Given the description of an element on the screen output the (x, y) to click on. 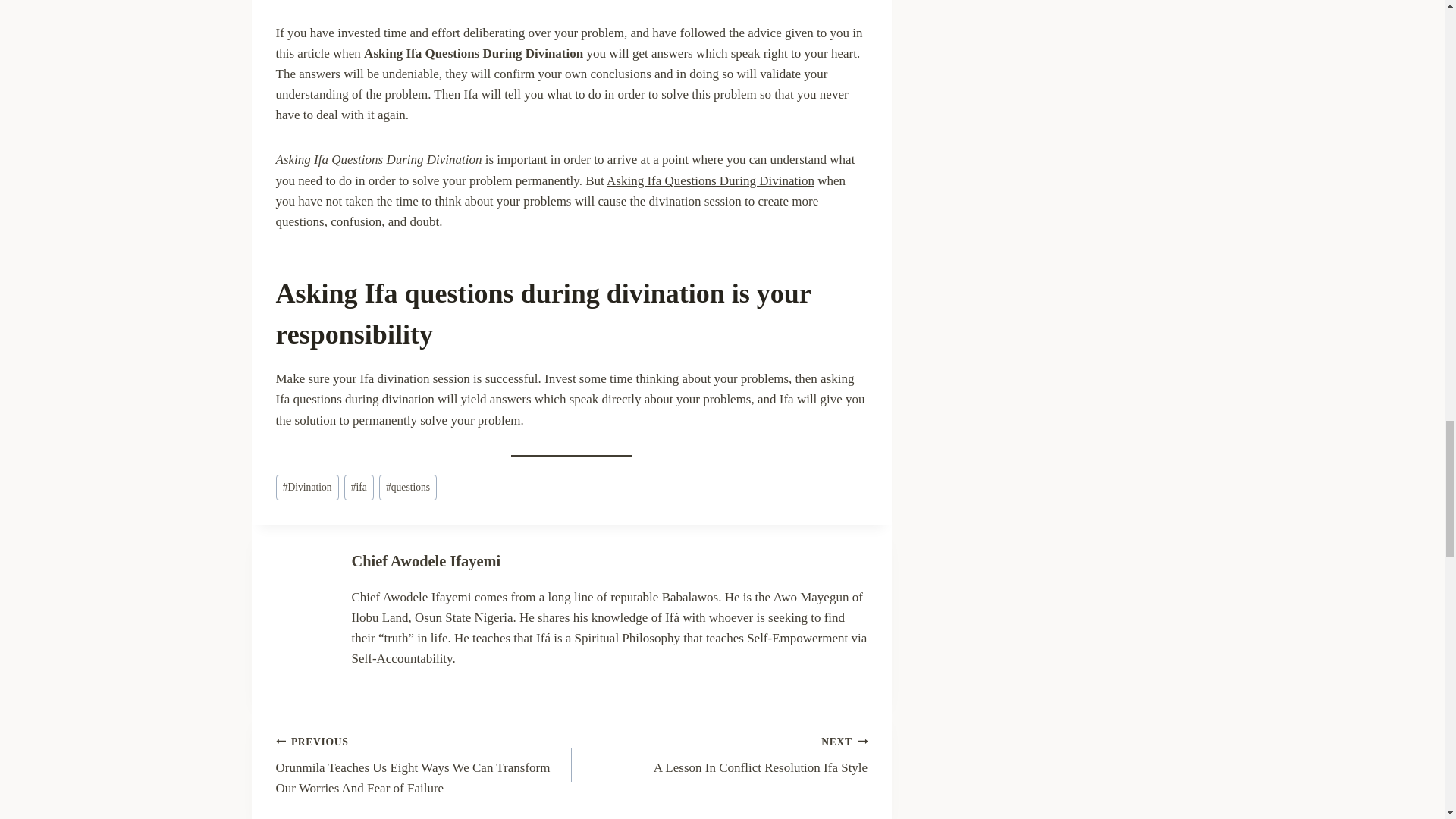
ifa (358, 488)
Chief Awodele Ifayemi (426, 560)
Posts by Chief Awodele Ifayemi (426, 560)
Divination (719, 754)
questions (307, 488)
